Given the description of an element on the screen output the (x, y) to click on. 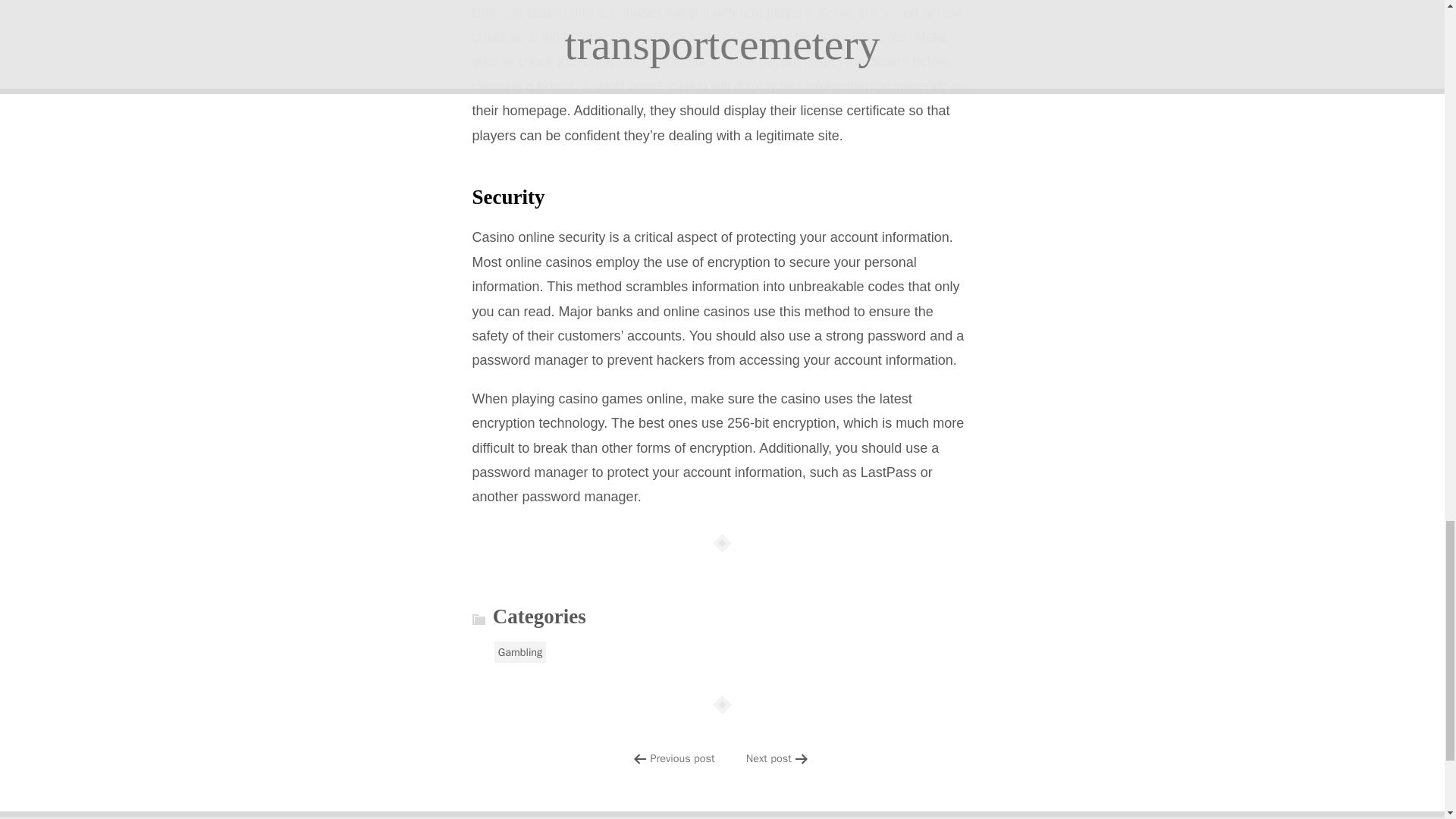
Gambling (521, 651)
Previous post (682, 757)
Next post (768, 757)
